Given the description of an element on the screen output the (x, y) to click on. 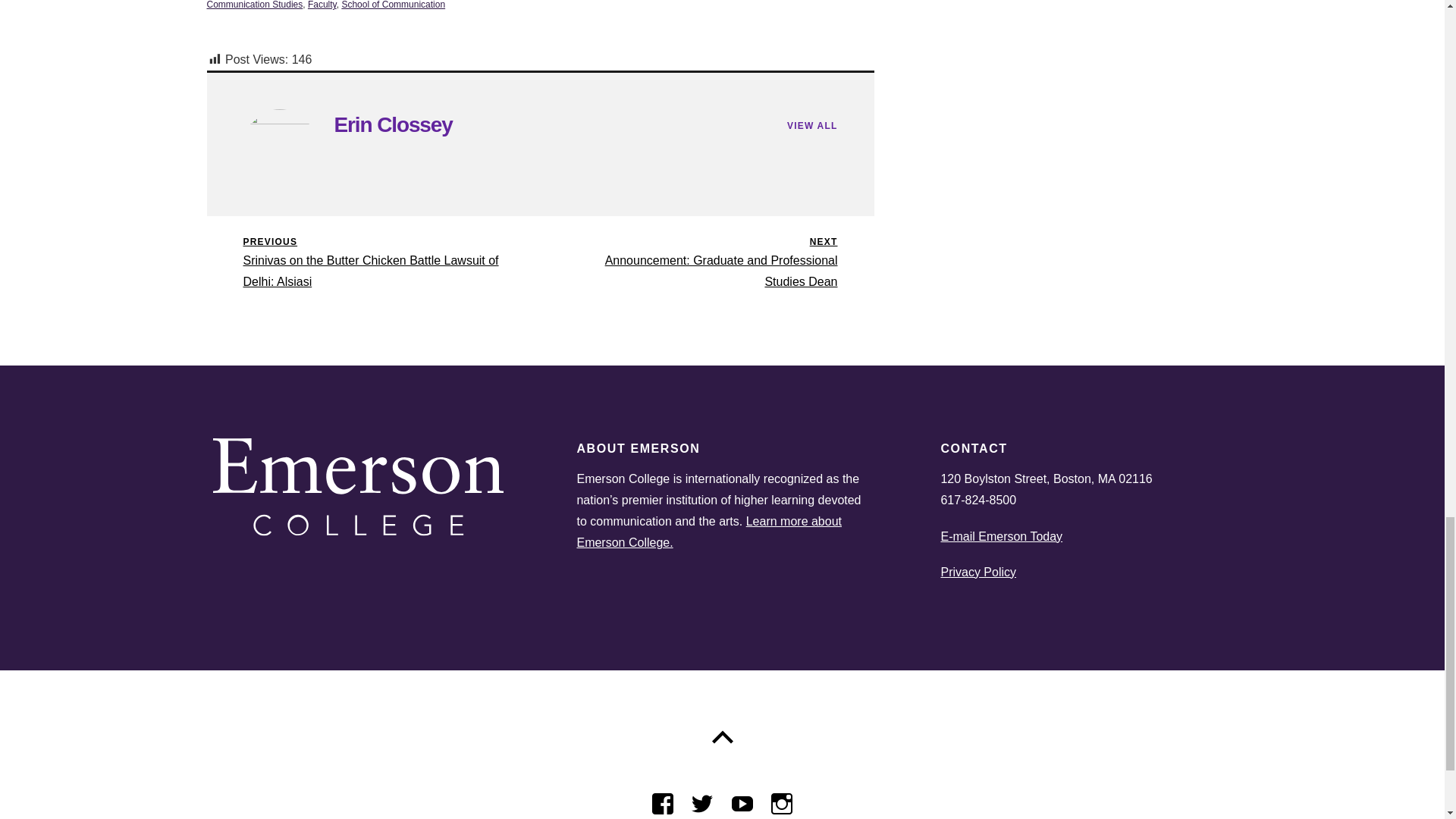
Faculty (321, 4)
School of Communication (392, 4)
Communication Studies (254, 4)
